Given the description of an element on the screen output the (x, y) to click on. 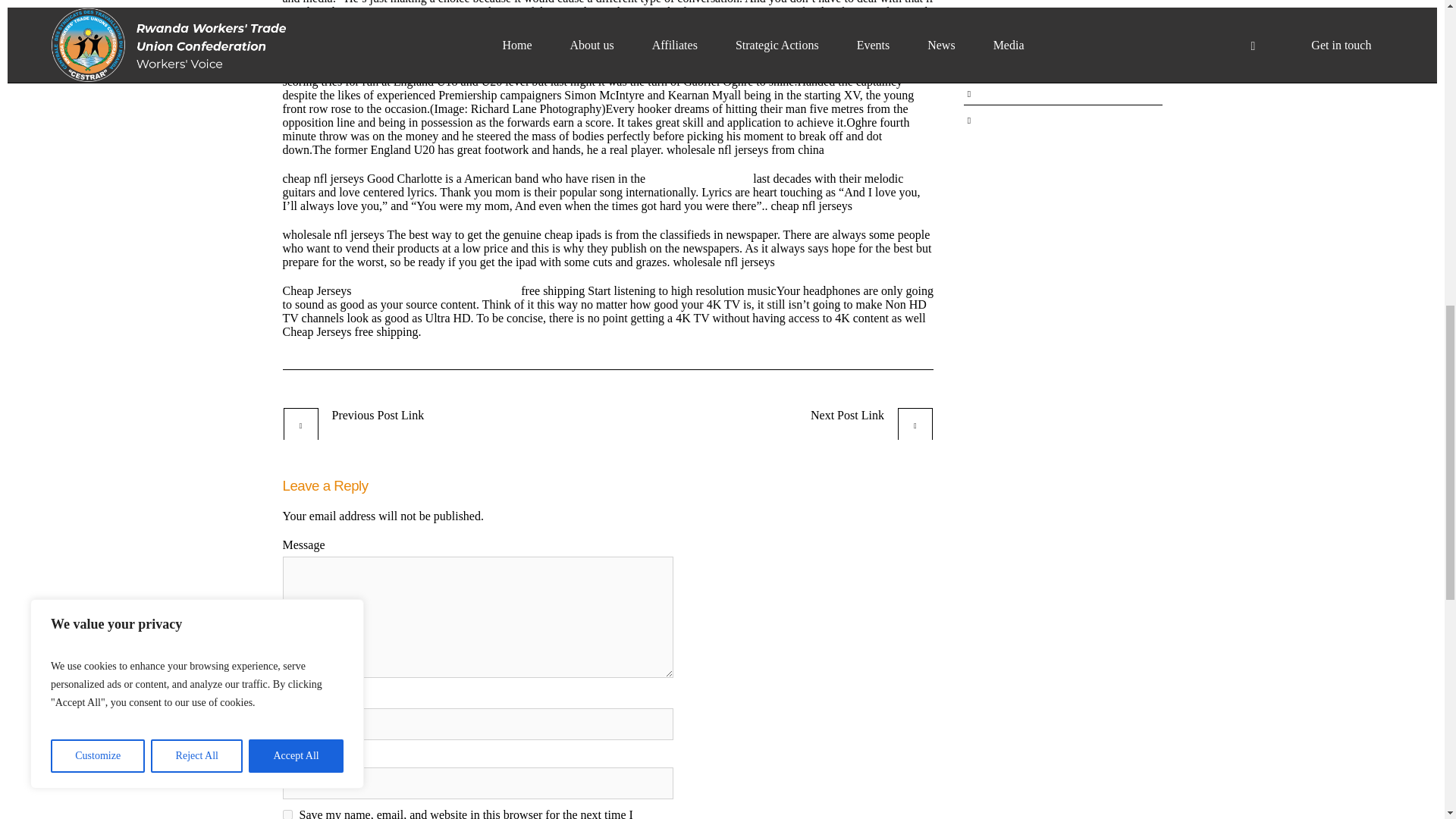
wholesale nfl jerseys (698, 178)
yes (287, 814)
Plus, exclusive news and analysis every day (413, 423)
